Given the description of an element on the screen output the (x, y) to click on. 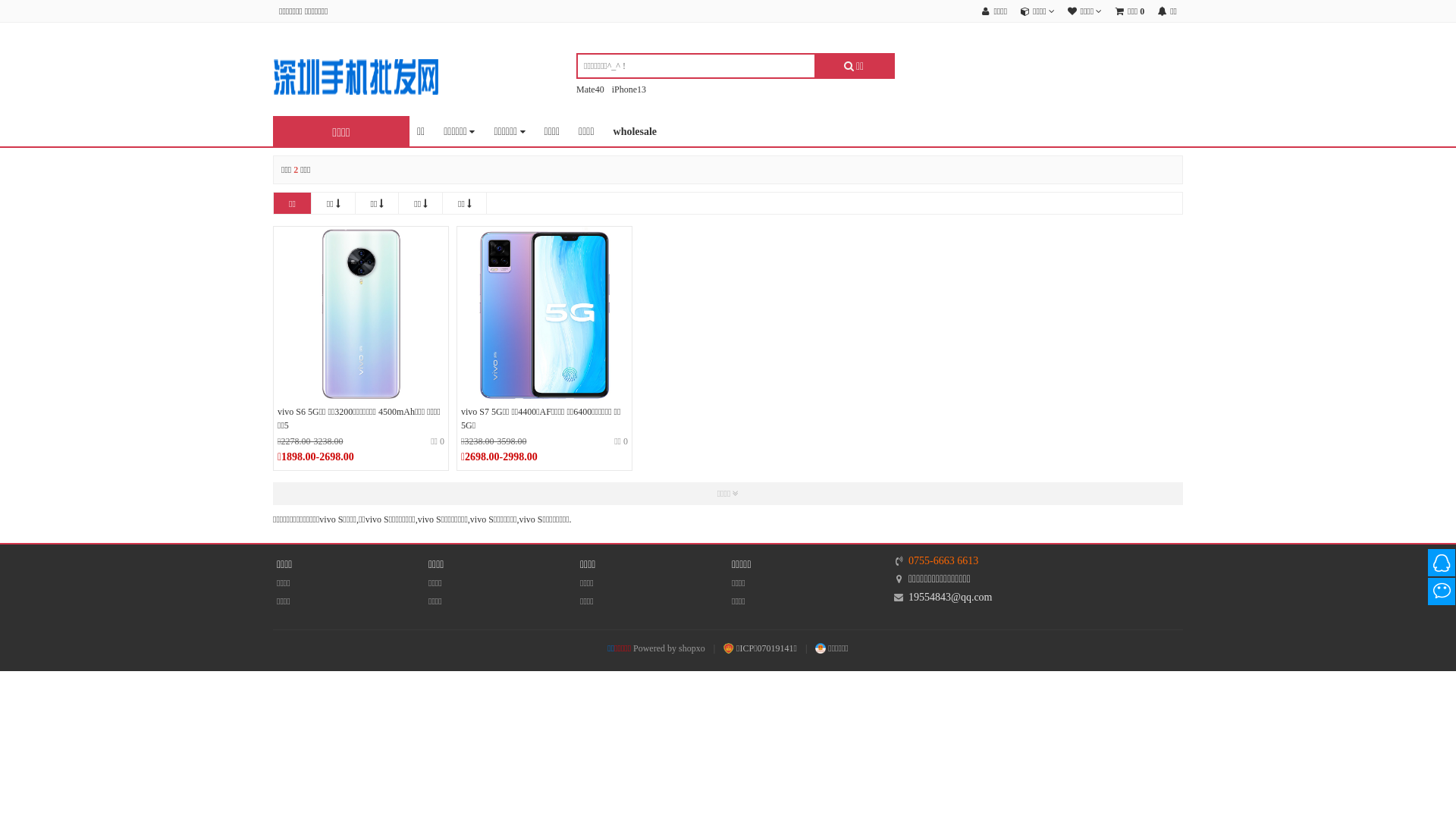
Mate40 Element type: text (590, 89)
0755-6663 6613 Element type: text (943, 560)
iPhone13 Element type: text (628, 89)
wholesale Element type: text (635, 131)
